Given the description of an element on the screen output the (x, y) to click on. 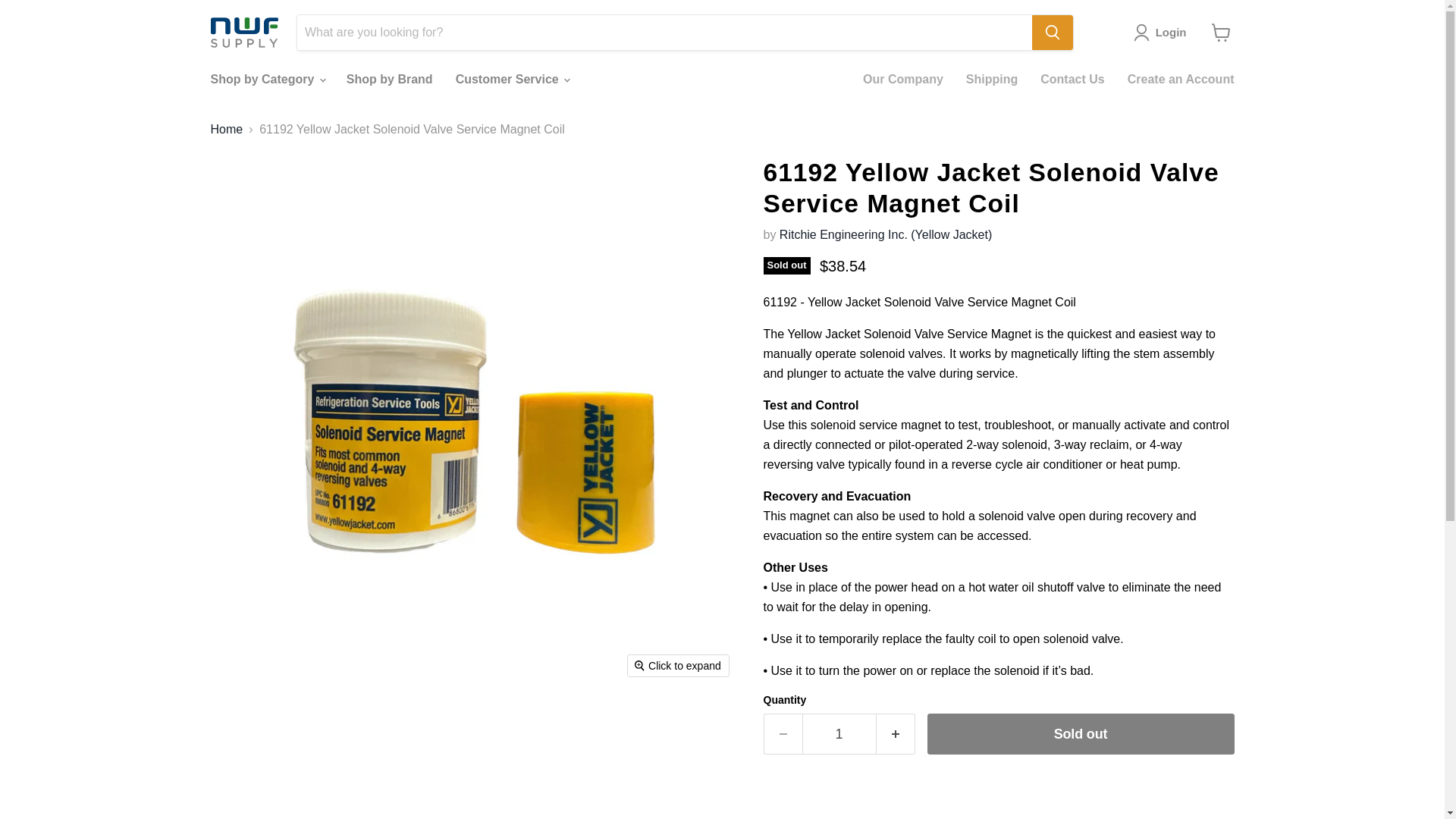
View cart (1221, 32)
1 (839, 734)
Our Company (903, 79)
Login (1163, 32)
Shop by Brand (389, 79)
Shipping (992, 79)
Contact Us (1072, 79)
